Given the description of an element on the screen output the (x, y) to click on. 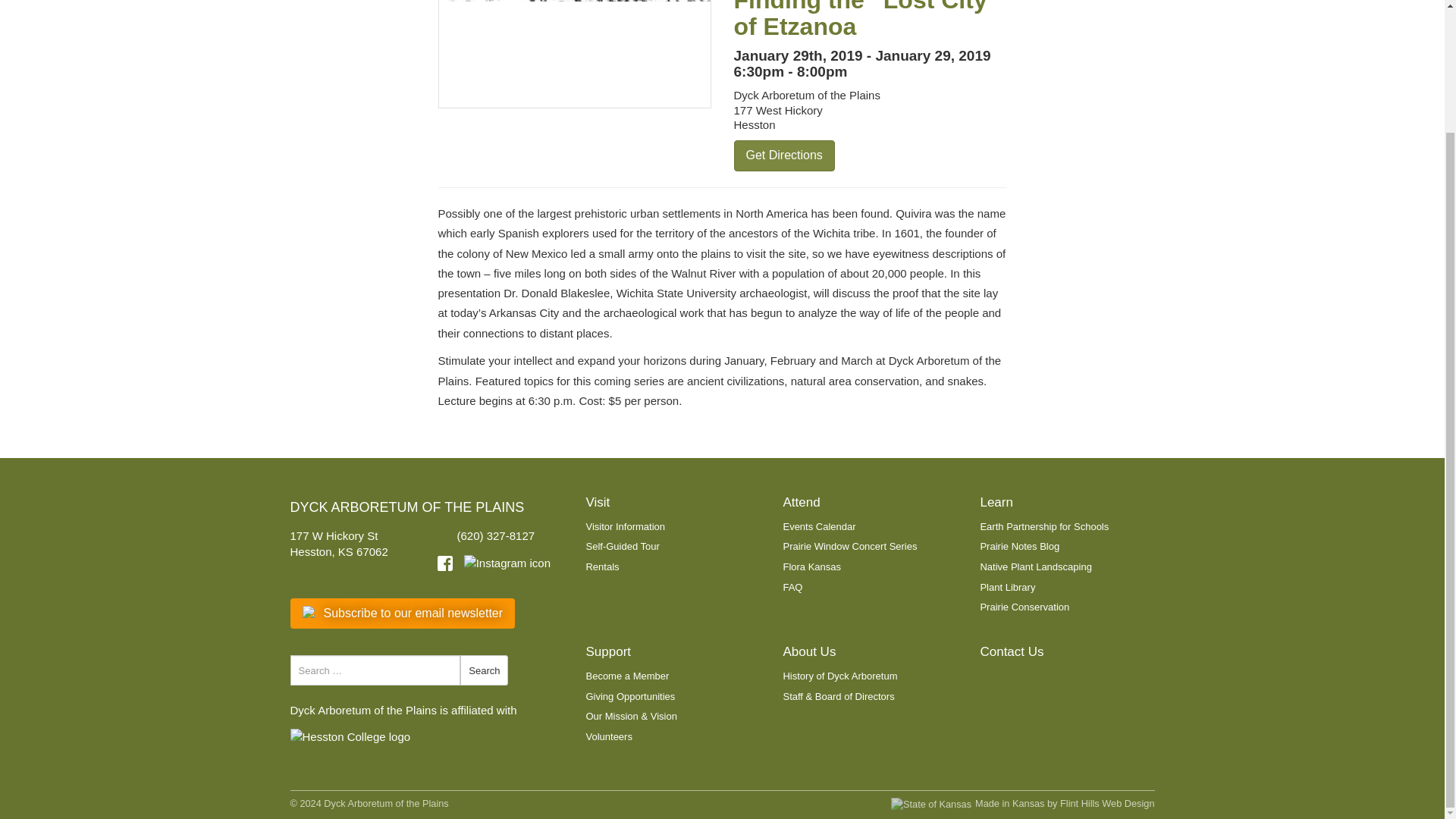
Search (484, 670)
